Given the description of an element on the screen output the (x, y) to click on. 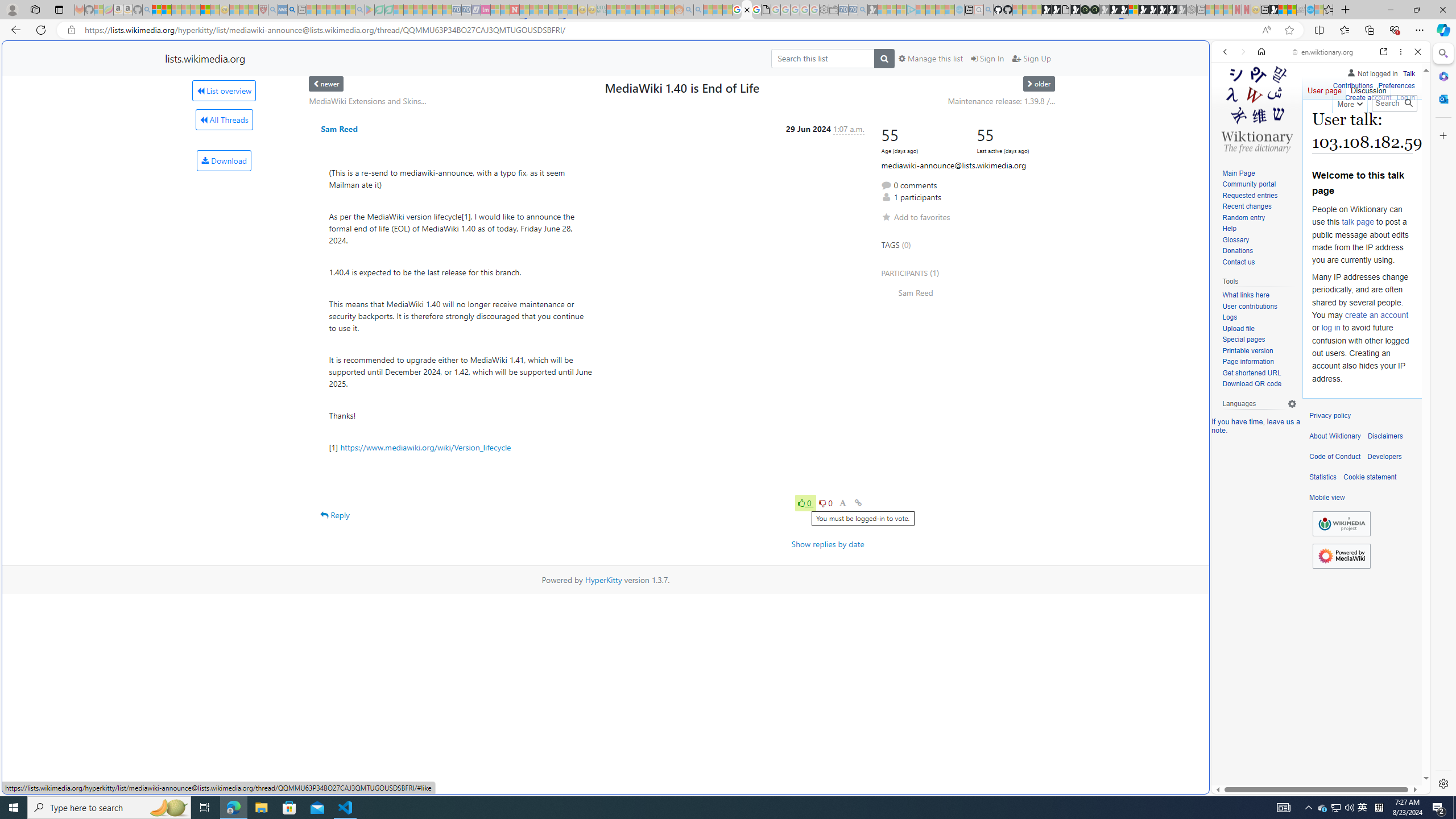
Upload file (1238, 328)
Close split screen (1208, 57)
What links here (1245, 295)
